Given the description of an element on the screen output the (x, y) to click on. 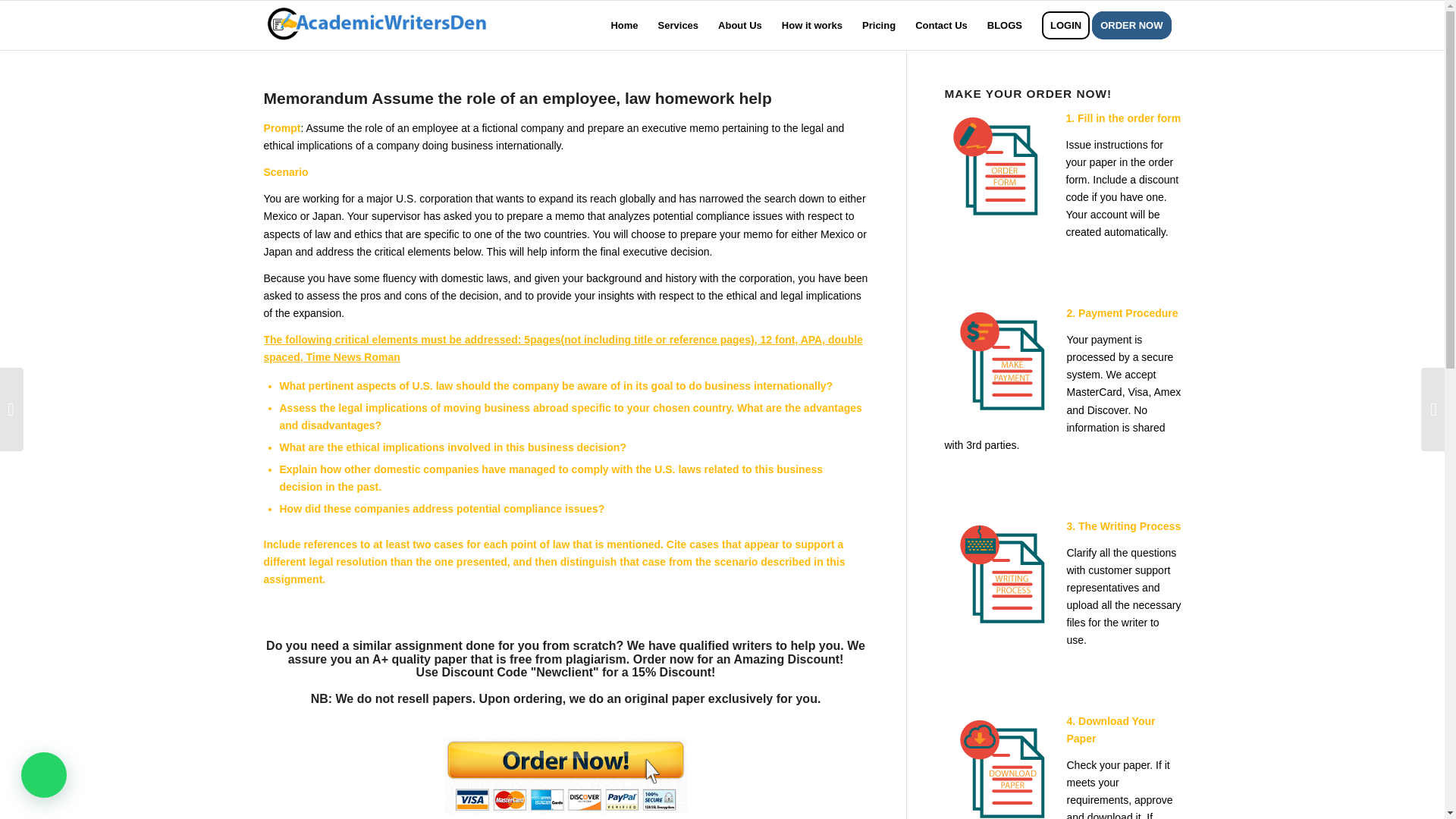
ORDER NOW (1136, 24)
Contact Us (940, 24)
Services (678, 24)
Memorandum Assume the role of an employee, law homework help (517, 98)
Home (623, 24)
Pricing (878, 24)
About Us (739, 24)
LOGIN (1065, 24)
How it works (811, 24)
